Given the description of an element on the screen output the (x, y) to click on. 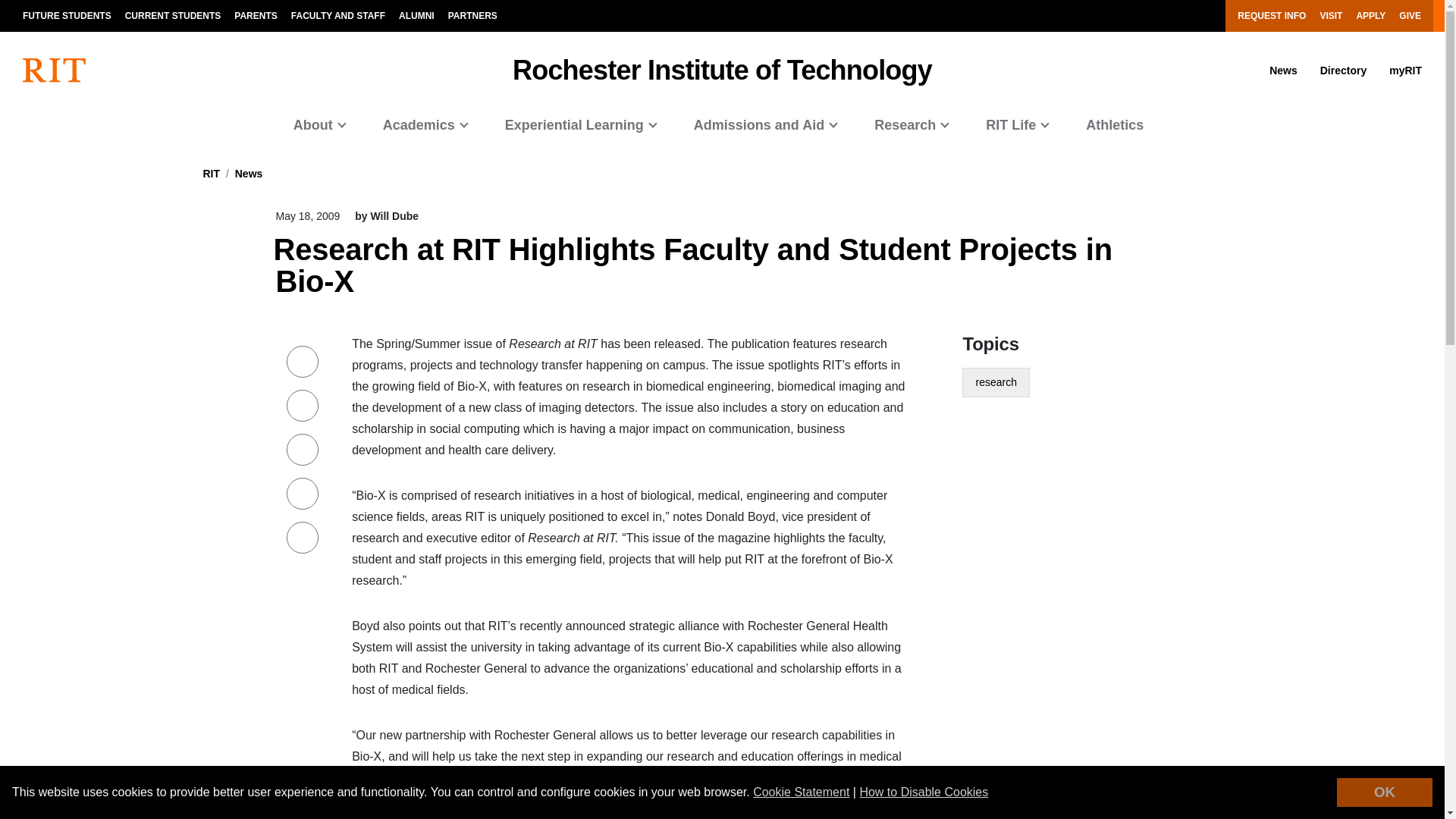
RIT logo (54, 70)
